Given the description of an element on the screen output the (x, y) to click on. 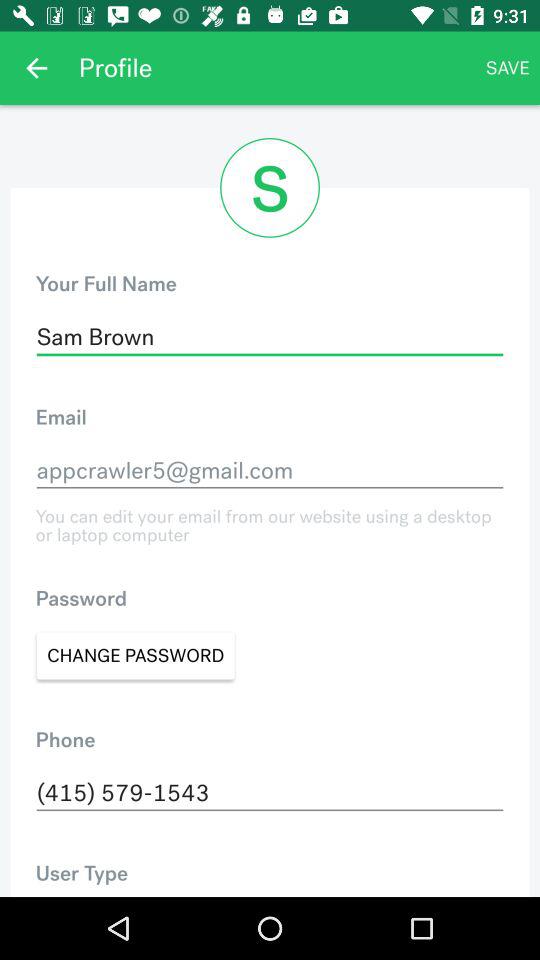
select (415) 579-1543 (269, 793)
